Given the description of an element on the screen output the (x, y) to click on. 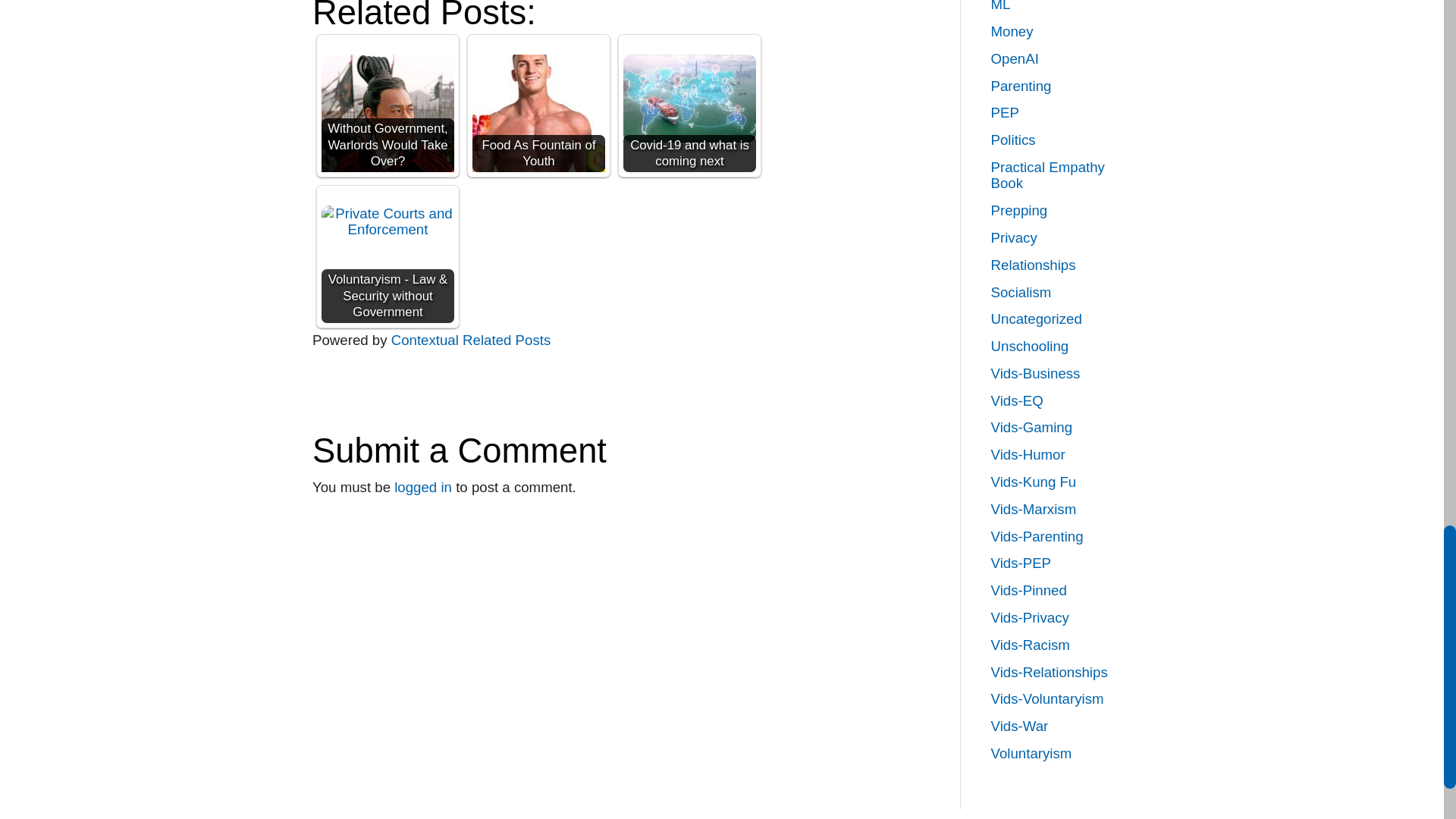
Food As Fountain of Youth (538, 120)
Food As Fountain of Youth (538, 105)
Contextual Related Posts (471, 340)
Covid-19 and what is coming next (689, 105)
logged in (422, 487)
Without Government, Warlords Would Take Over? (387, 120)
Without Government, Warlords Would Take Over? (387, 105)
Covid-19 and what is coming next (689, 98)
